Given the description of an element on the screen output the (x, y) to click on. 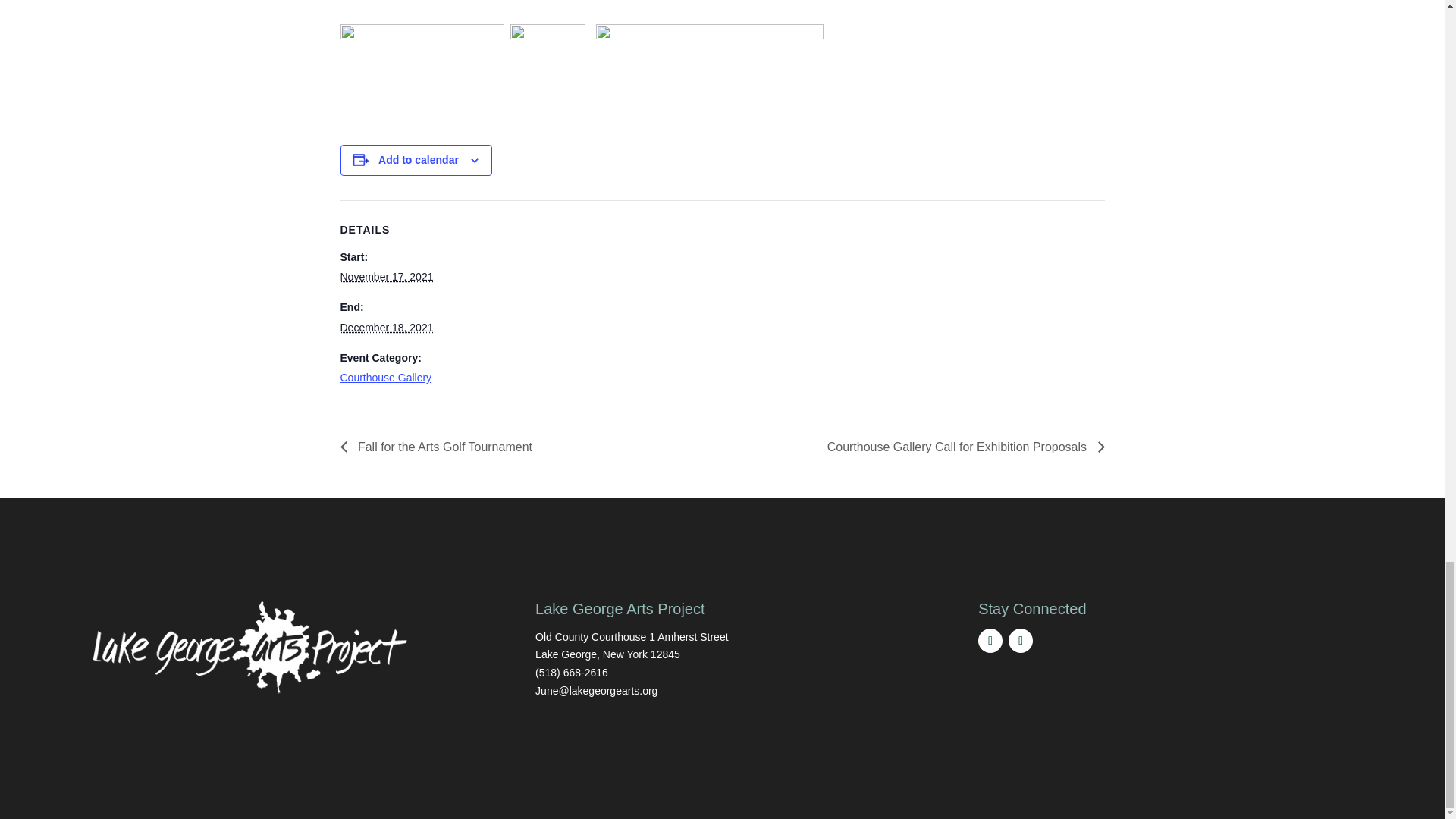
Follow on Facebook (1020, 640)
2021-11-17 (385, 276)
lg-arts-logo-white (250, 647)
Follow on Instagram (990, 640)
2021-12-18 (385, 327)
